Given the description of an element on the screen output the (x, y) to click on. 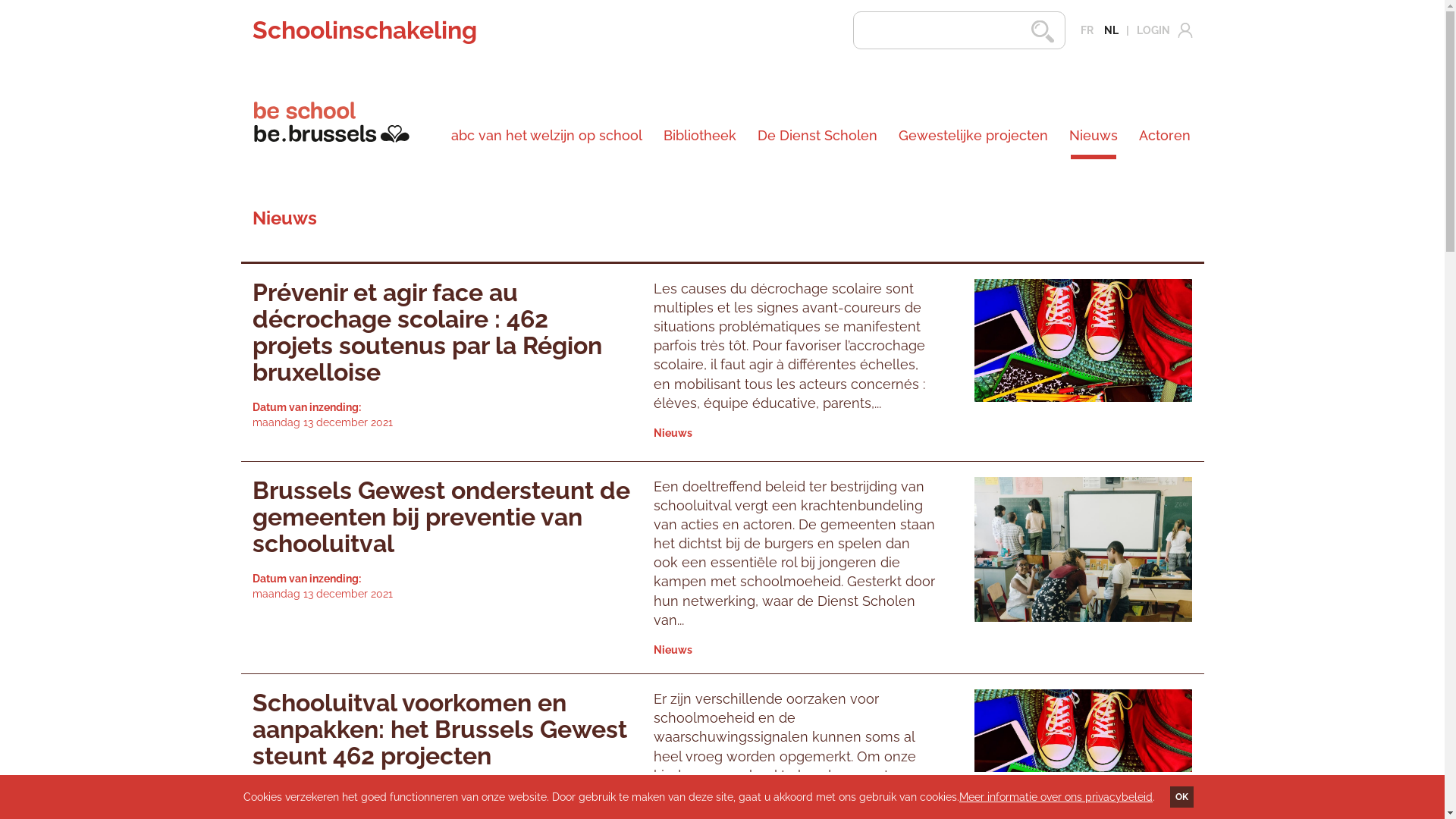
De Dienst Scholen Element type: text (817, 135)
OK Element type: text (1181, 796)
FR Element type: text (1085, 30)
Schoolinschakeling Element type: text (363, 29)
Geef de woorden op waarnaar u wilt zoeken. Element type: hover (958, 30)
abc van het welzijn op school Element type: text (546, 135)
Bibliotheek Element type: text (699, 135)
Gewestelijke projecten Element type: text (973, 135)
Zoeken Element type: text (1035, 31)
NL Element type: text (1111, 30)
LOGIN Element type: text (1154, 30)
Nieuws Element type: text (1093, 135)
Actoren Element type: text (1159, 135)
Meer informatie over ons privacybeleid Element type: text (1055, 796)
